Given the description of an element on the screen output the (x, y) to click on. 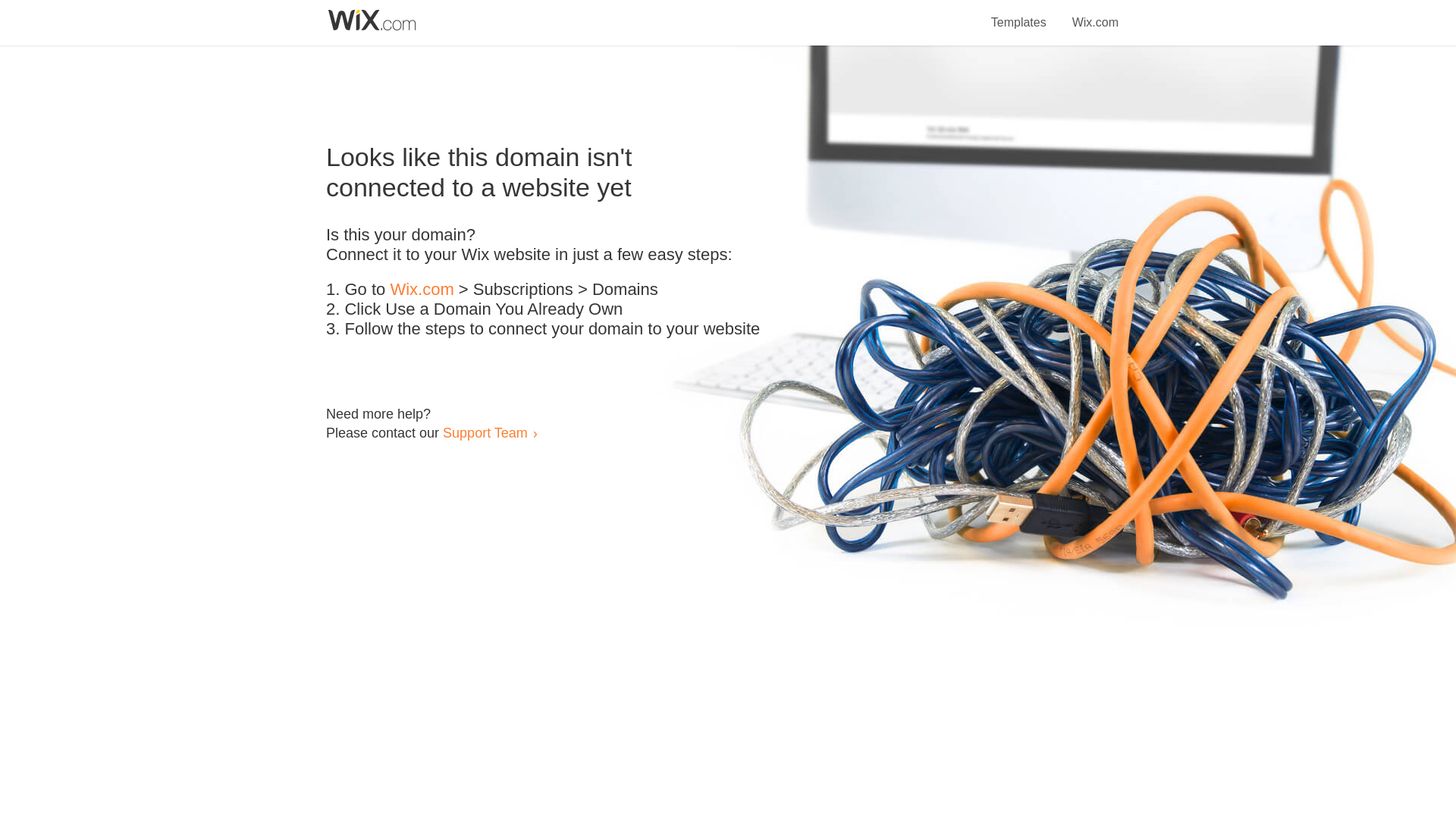
Templates (1018, 14)
Support Team (484, 432)
Wix.com (1095, 14)
Wix.com (421, 289)
